Given the description of an element on the screen output the (x, y) to click on. 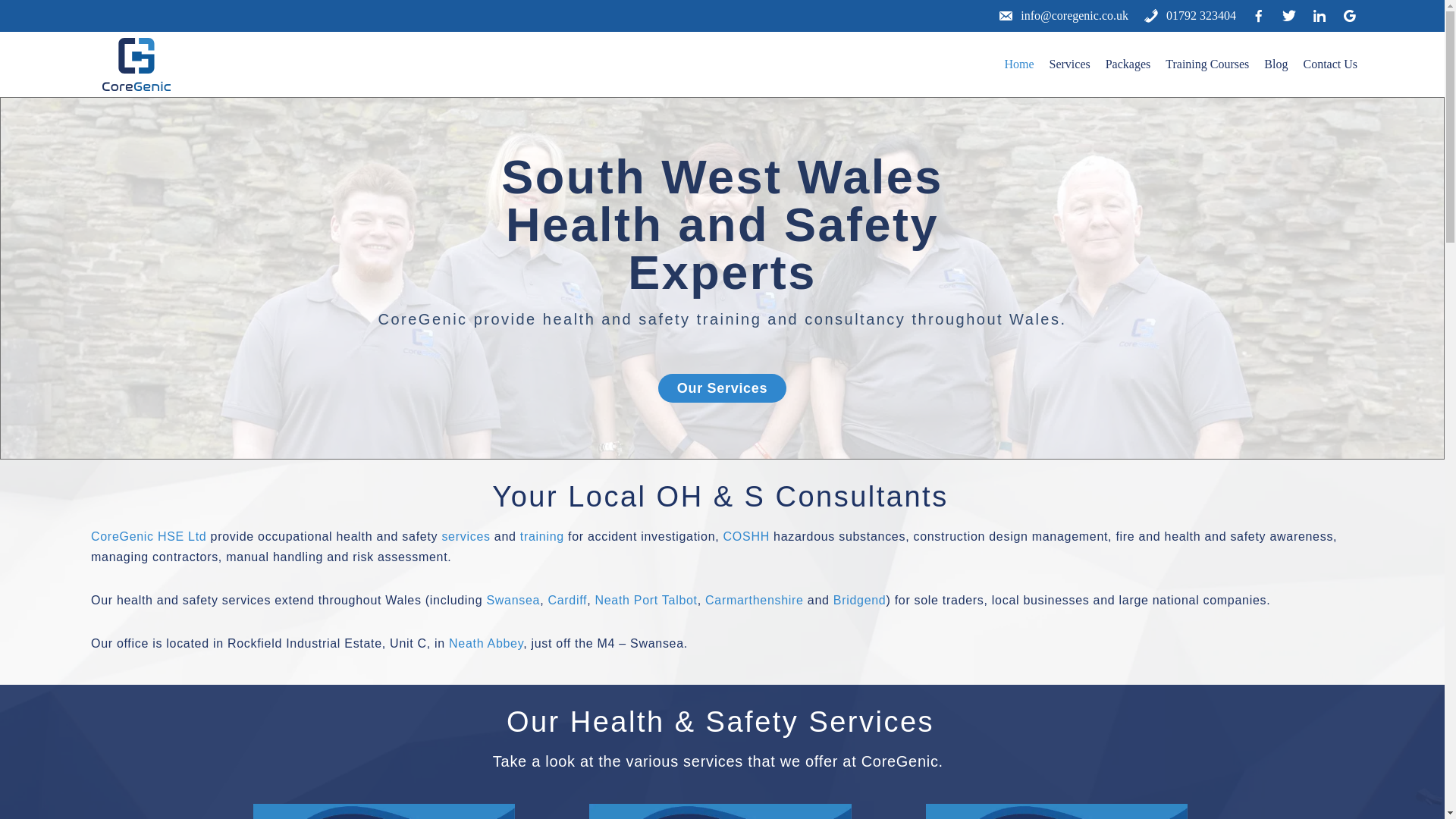
Home (1018, 64)
Packages (1128, 64)
Training Courses (1207, 64)
Blog (1275, 64)
Skip to content (11, 31)
training (541, 535)
services (465, 535)
Bridgend (859, 599)
Neath Port Talbot (646, 599)
Services (1069, 64)
